Given the description of an element on the screen output the (x, y) to click on. 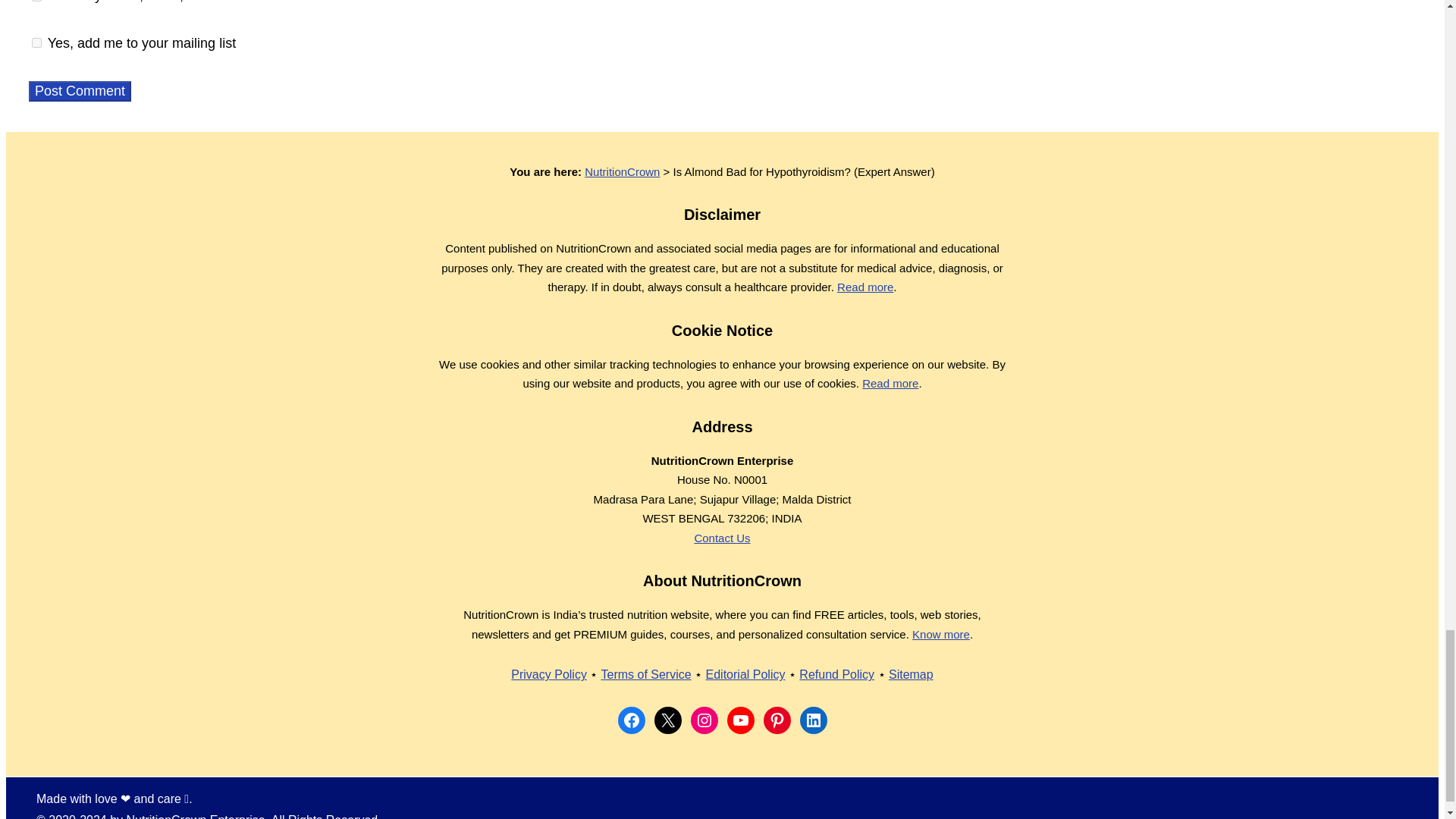
Contact Us (721, 537)
Refund Policy (837, 674)
X (667, 719)
Read more (865, 286)
Facebook (631, 719)
Terms of Service (644, 674)
Privacy Policy (548, 674)
NutritionCrown (622, 171)
Pinterest (776, 719)
Read more (889, 382)
